Given the description of an element on the screen output the (x, y) to click on. 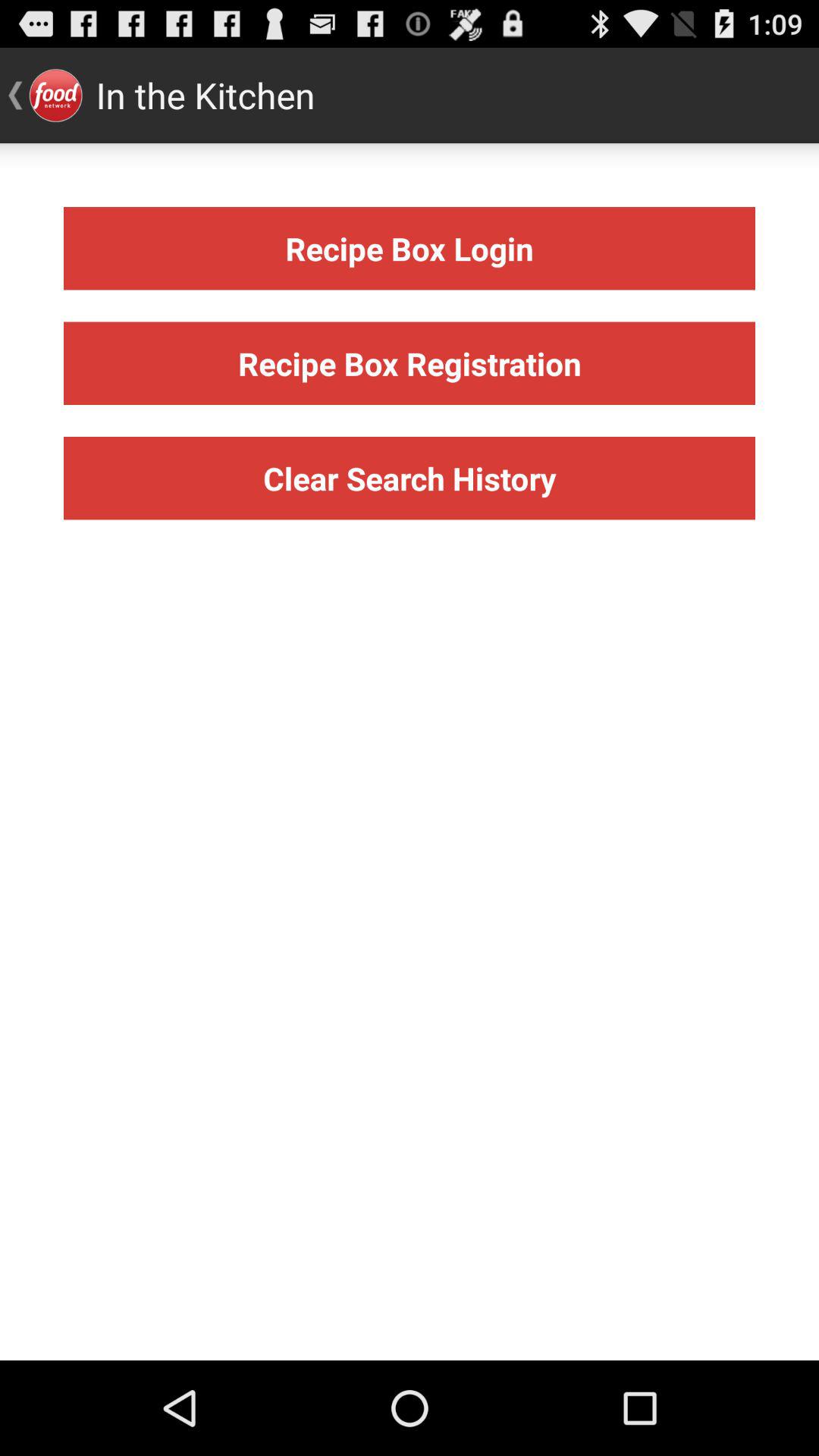
swipe until clear search history icon (409, 477)
